Given the description of an element on the screen output the (x, y) to click on. 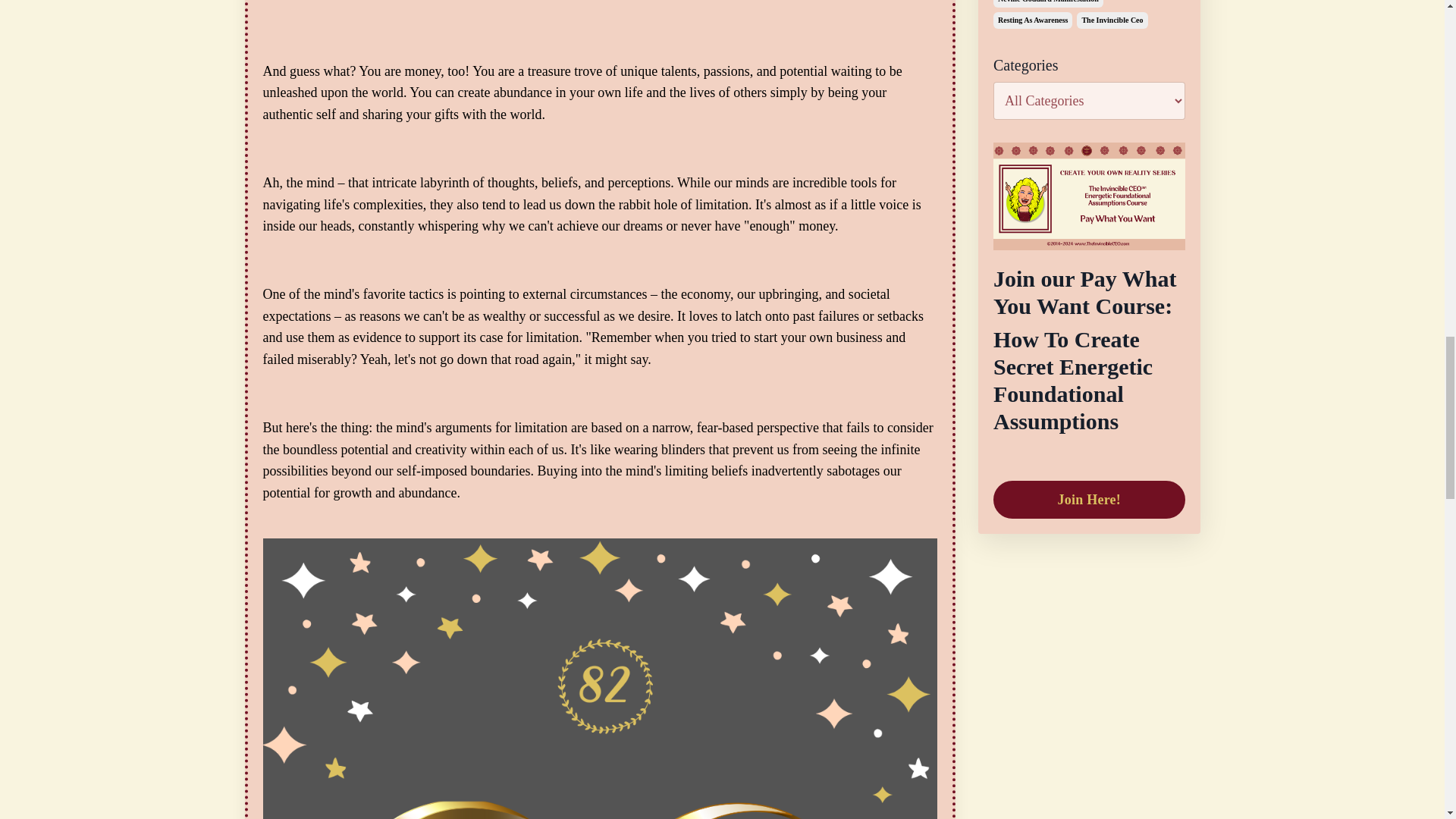
YouTube video player (599, 6)
